Given the description of an element on the screen output the (x, y) to click on. 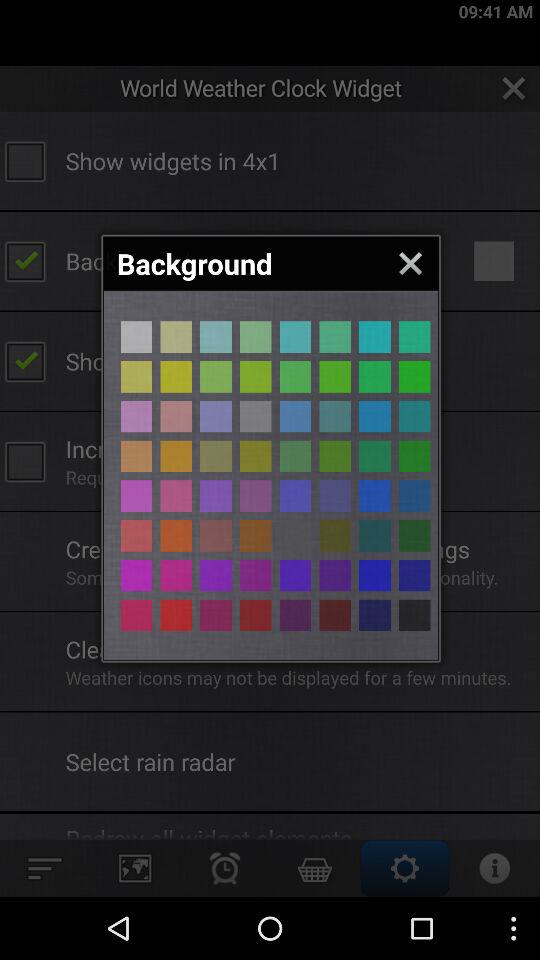
color button (374, 416)
